Given the description of an element on the screen output the (x, y) to click on. 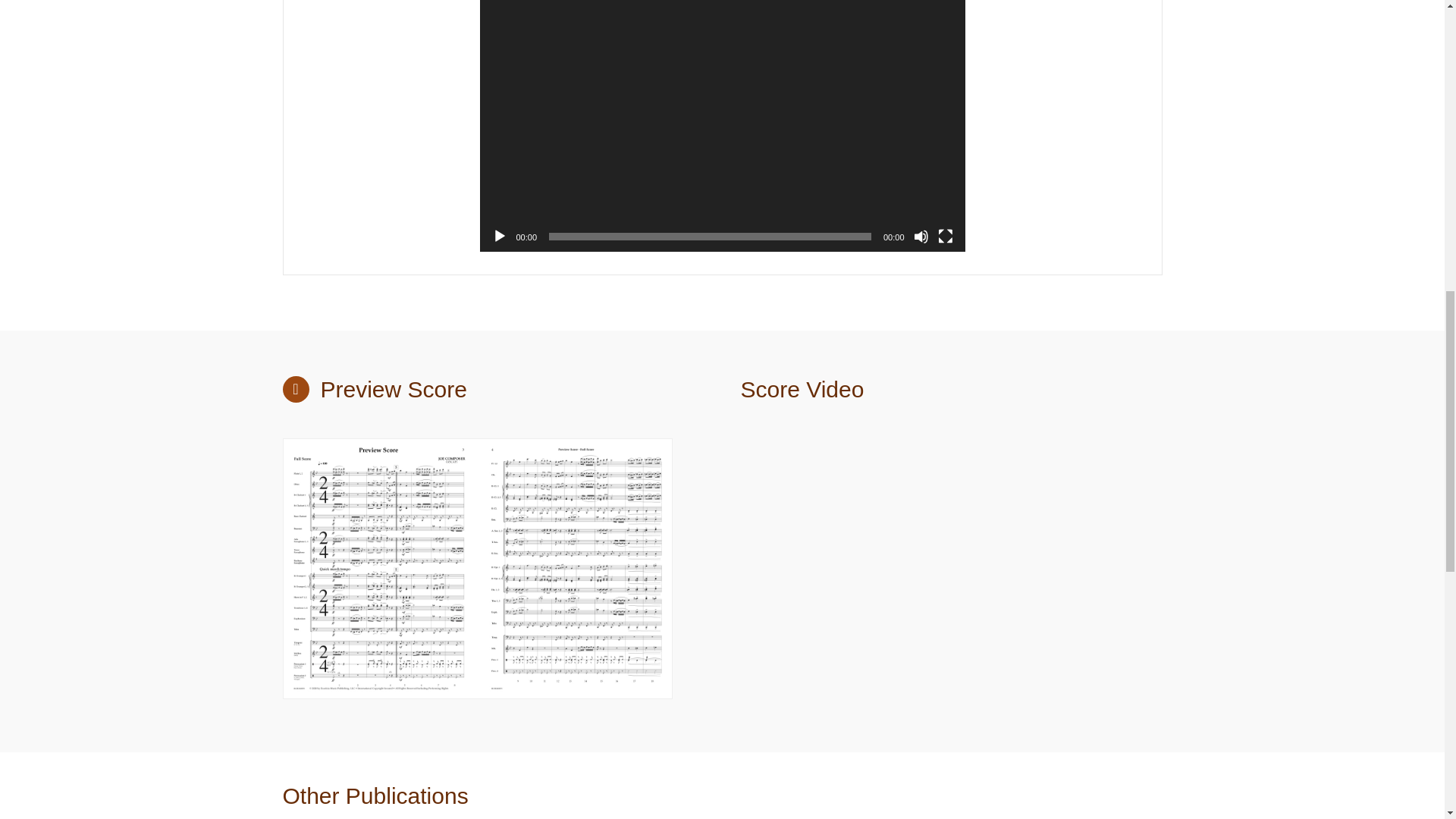
Play (499, 236)
Fullscreen (944, 236)
Liberty Square March - Chris Ferguson (932, 571)
Mute (920, 236)
